Given the description of an element on the screen output the (x, y) to click on. 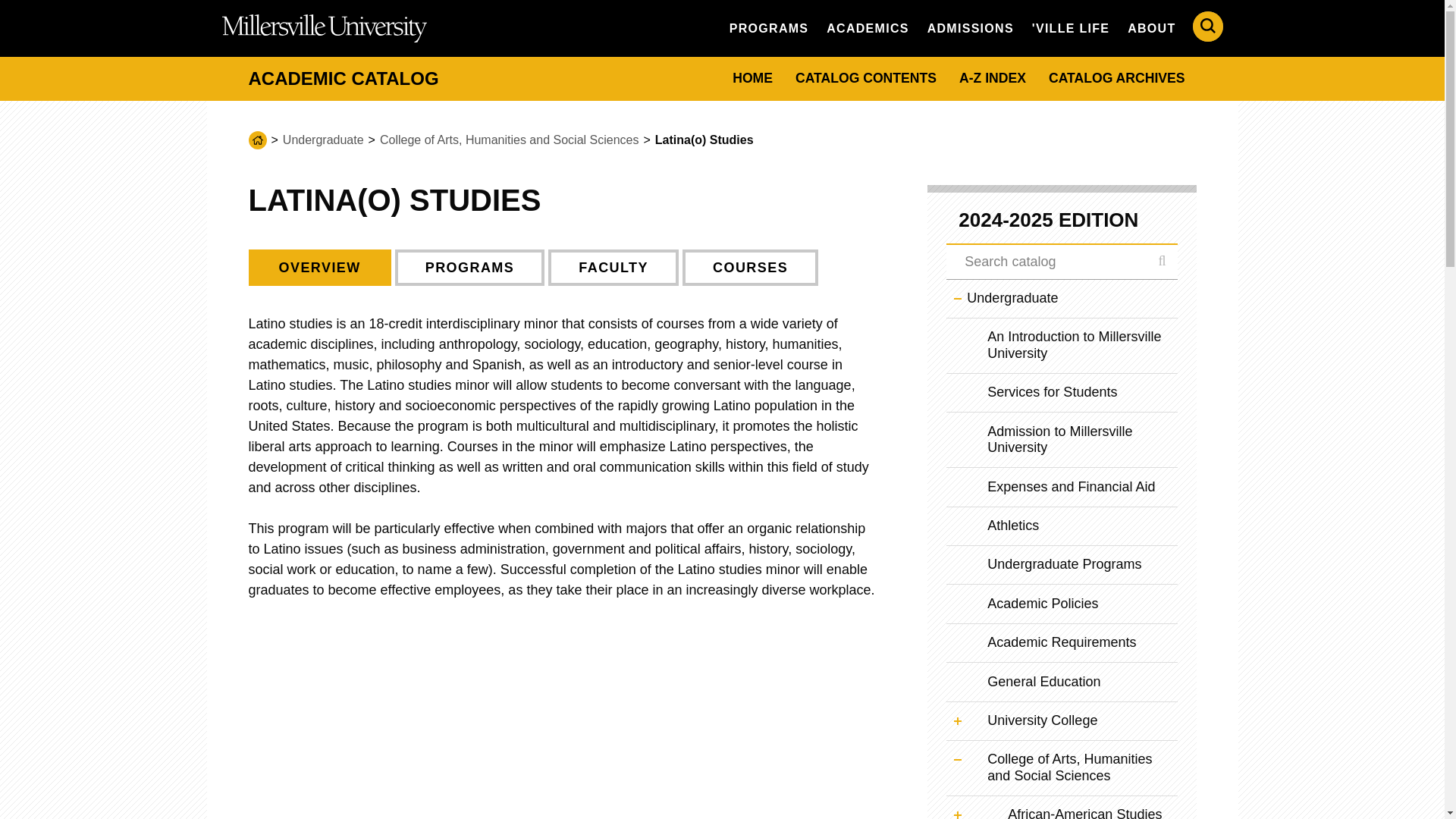
ABOUT (1151, 27)
ACADEMICS (866, 27)
CATALOG ARCHIVES (1116, 78)
Expenses and Financial Aid (1061, 486)
'VILLE LIFE (1070, 27)
ACADEMIC CATALOG (343, 77)
ADMISSIONS (970, 27)
A-Z INDEX (991, 78)
Athletics (1061, 525)
Undergraduate (323, 140)
College of Arts, Humanities and Social Sciences (509, 140)
Millersville University (323, 28)
PROGRAMS (768, 27)
CATALOG CONTENTS (865, 78)
Admission to Millersville University (1061, 439)
